Given the description of an element on the screen output the (x, y) to click on. 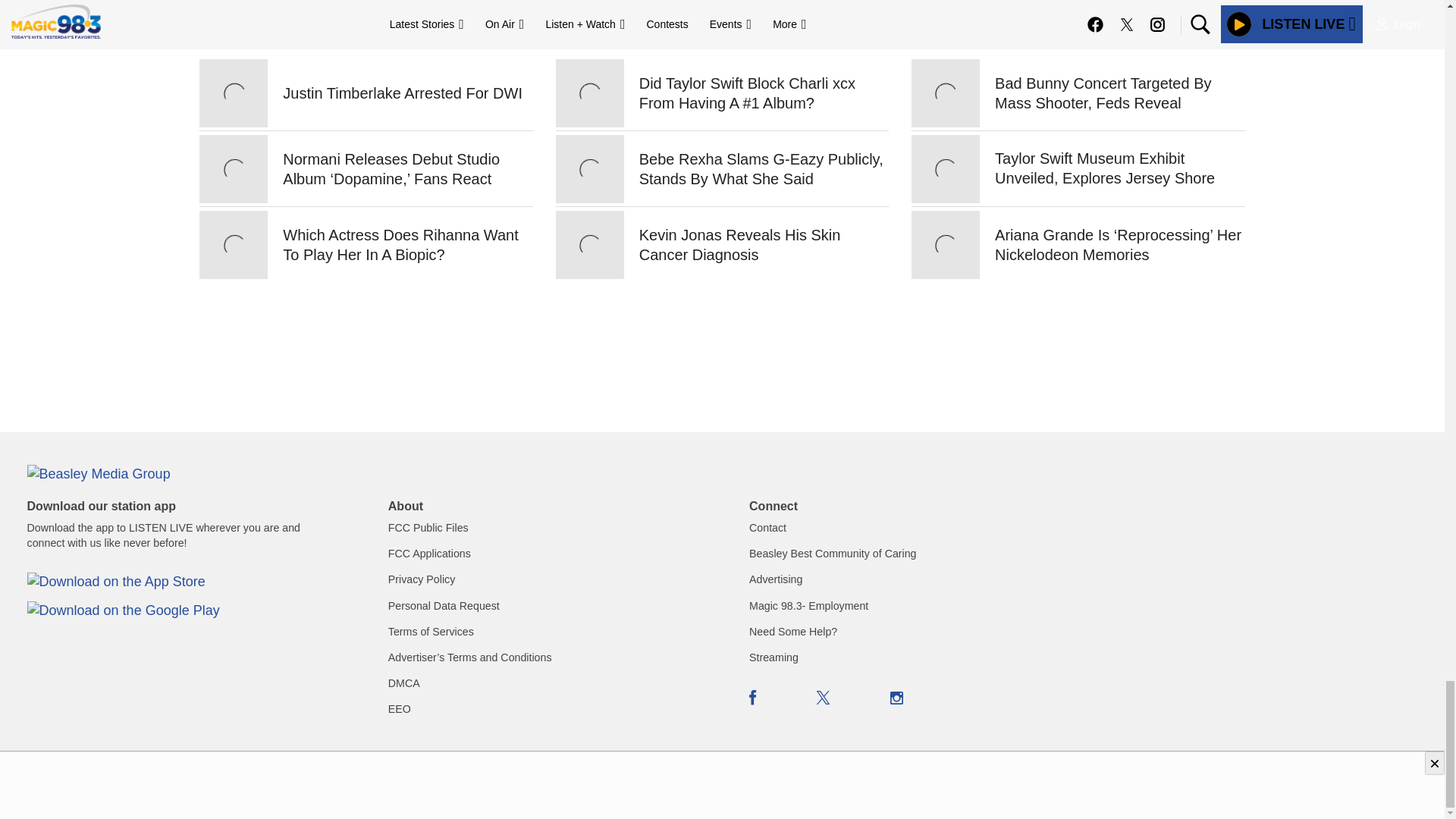
Instagram (895, 697)
Twitter (823, 697)
